Given the description of an element on the screen output the (x, y) to click on. 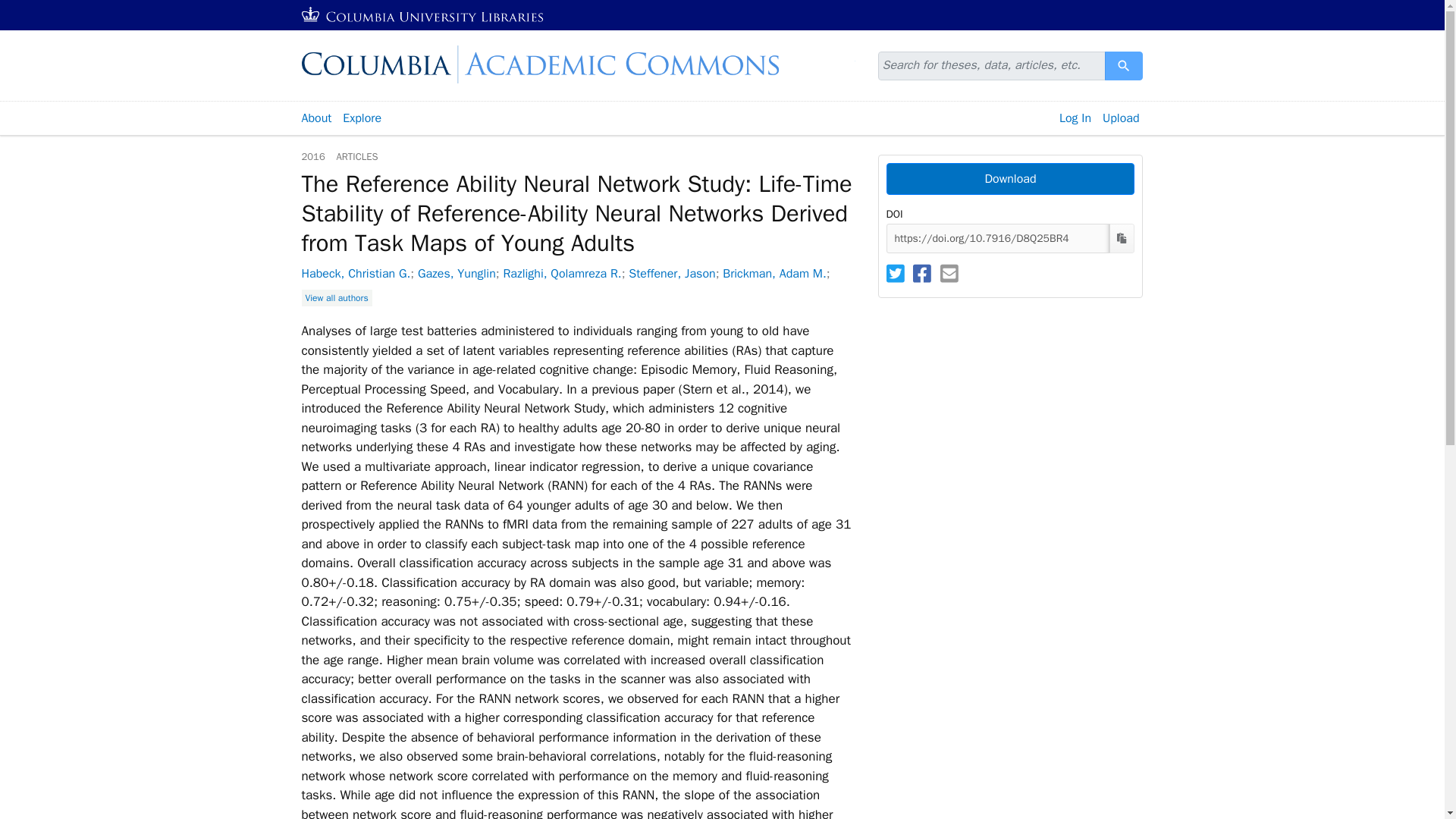
Salthouse, Timothy (470, 294)
Upload (1120, 118)
Razlighi, Qolamreza R. (561, 273)
Explore (362, 118)
Search (1123, 65)
Habeck, Christian G. (355, 273)
Log In (1074, 118)
Steffener, Jason (1123, 65)
Stern, Yaakov (671, 273)
